Given the description of an element on the screen output the (x, y) to click on. 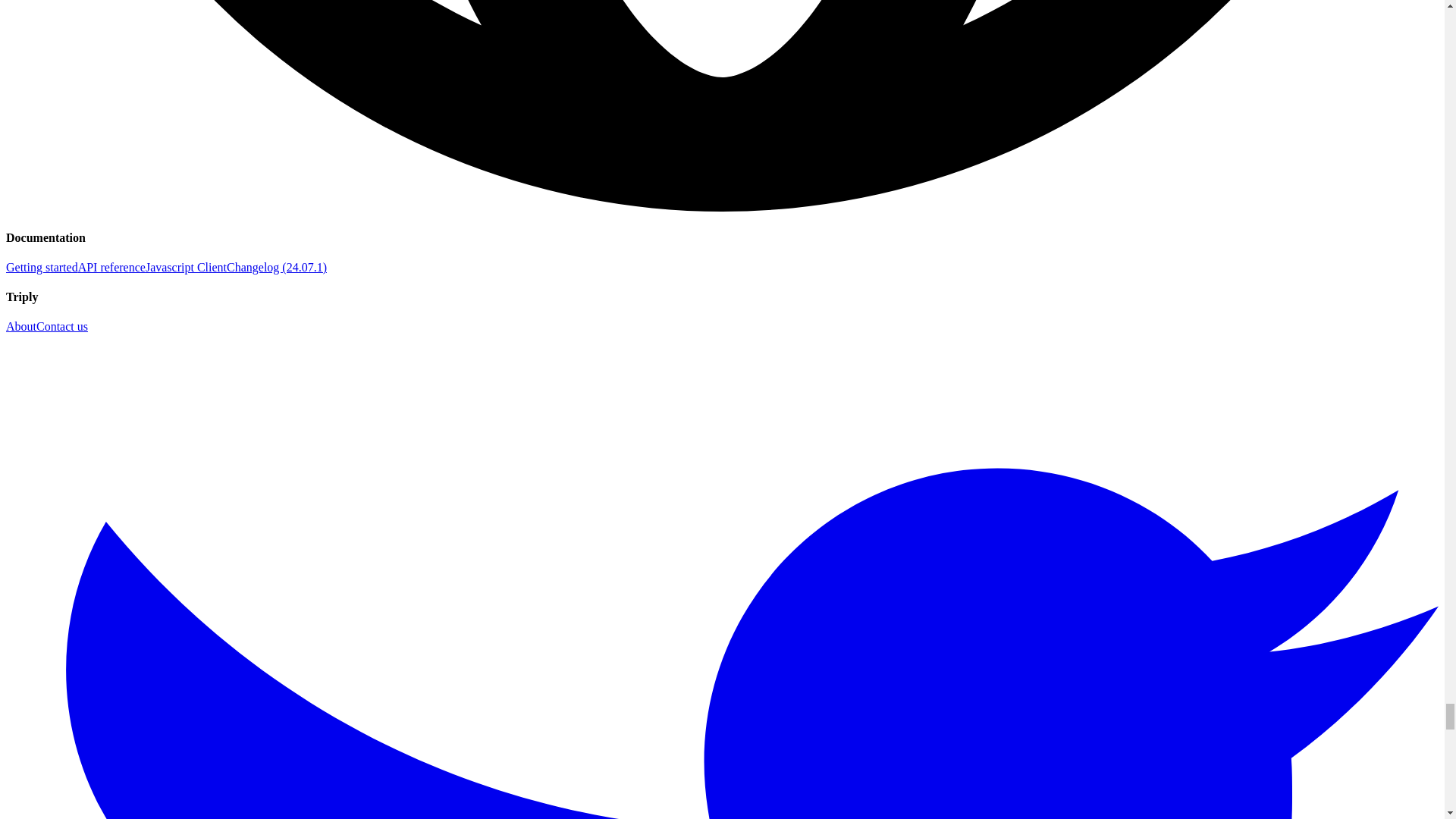
About (20, 326)
API reference (111, 267)
Getting started (41, 267)
Contact us (61, 326)
Javascript Client (186, 267)
